Given the description of an element on the screen output the (x, y) to click on. 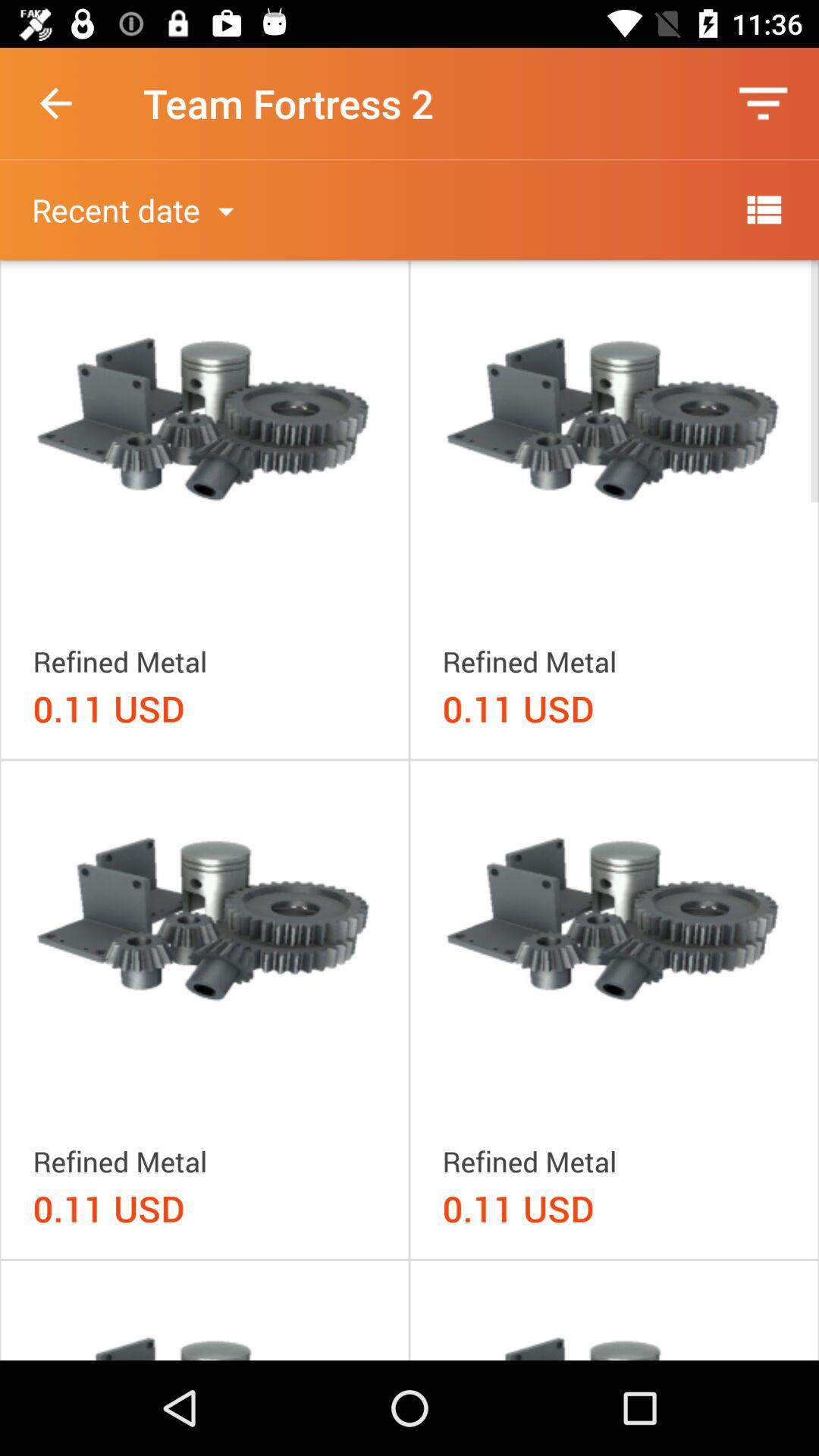
more options (763, 209)
